Given the description of an element on the screen output the (x, y) to click on. 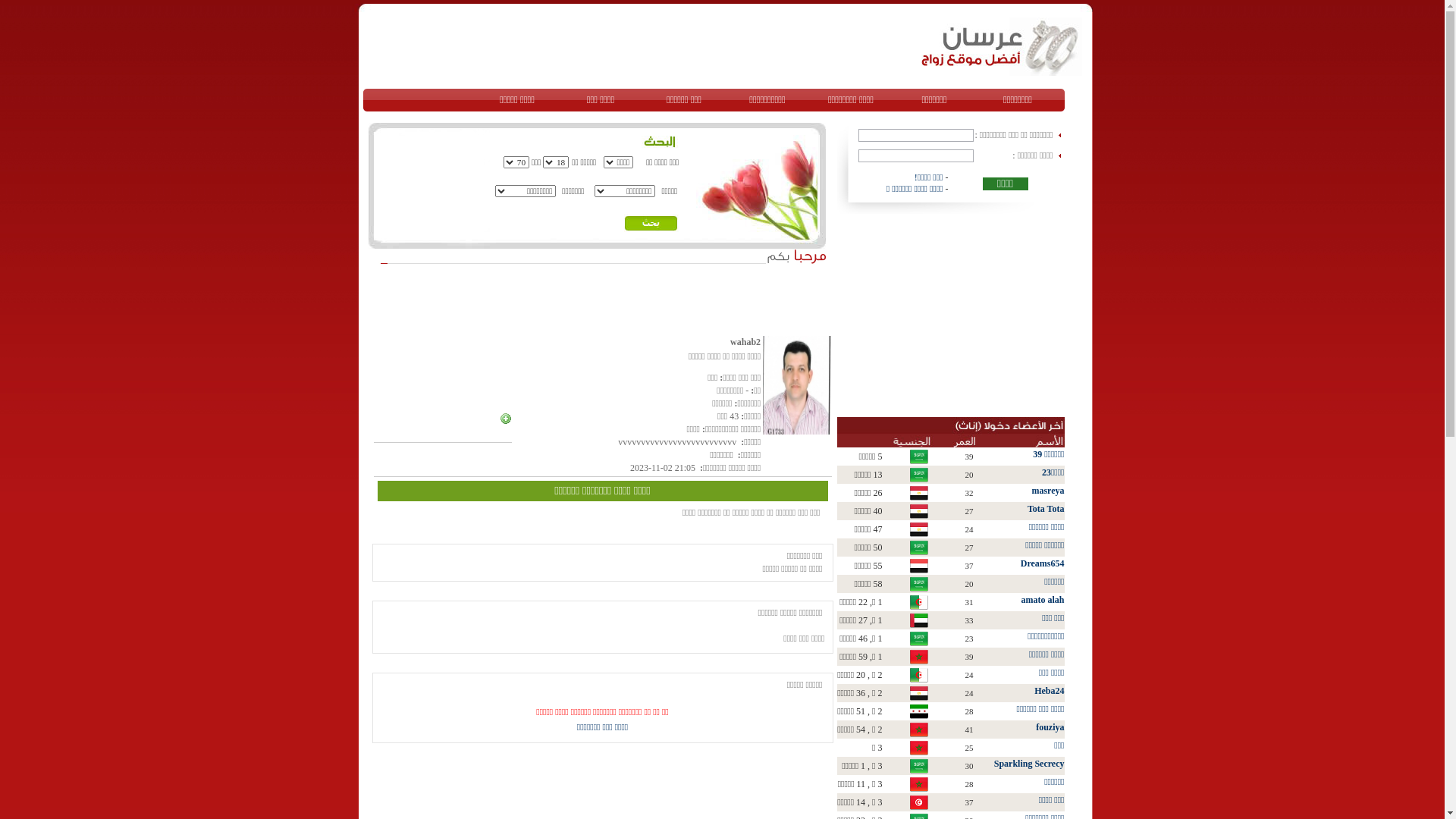
masreya Element type: text (1047, 490)
Tota Tota Element type: text (1045, 508)
Advertisement Element type: hover (548, 300)
amato alah Element type: text (1041, 599)
Advertisement Element type: hover (950, 314)
Sparkling Secrecy Element type: text (1029, 763)
Heba24 Element type: text (1048, 690)
Dreams654 Element type: text (1042, 563)
Advertisement Element type: hover (638, 46)
fouziya Element type: text (1049, 726)
